Given the description of an element on the screen output the (x, y) to click on. 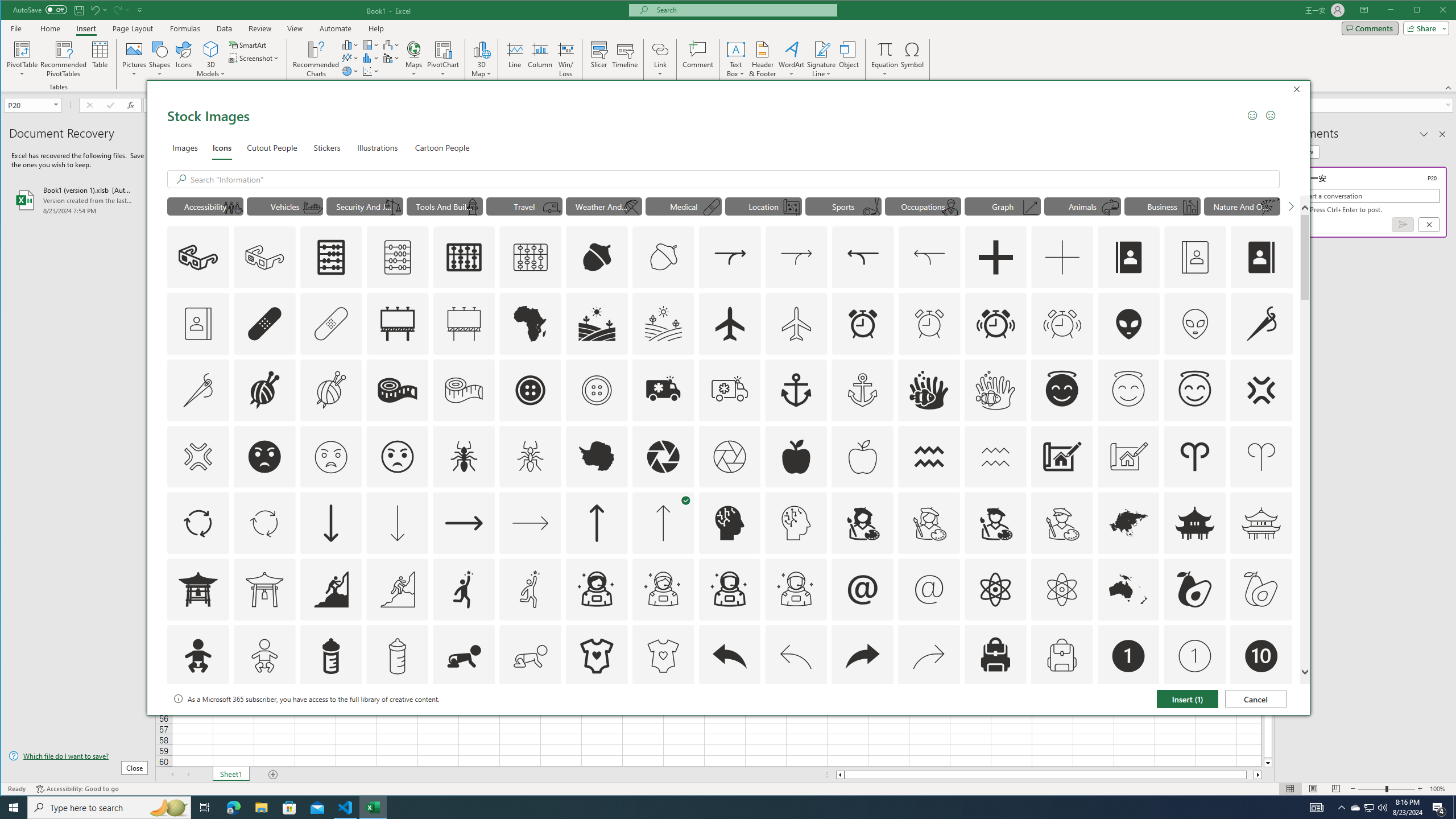
AutomationID: Icons_Badge4_M (596, 721)
AutomationID: Icons_AngerSymbol (1260, 389)
AutomationID: Icons_Badge1 (1128, 655)
AutomationID: Icons_Aries (1194, 456)
AutomationID: Icons_AnemoneAndClownfish_M (995, 389)
Draw Horizontal Text Box (735, 48)
AutomationID: Icons_Badge10_M (197, 721)
